Given the description of an element on the screen output the (x, y) to click on. 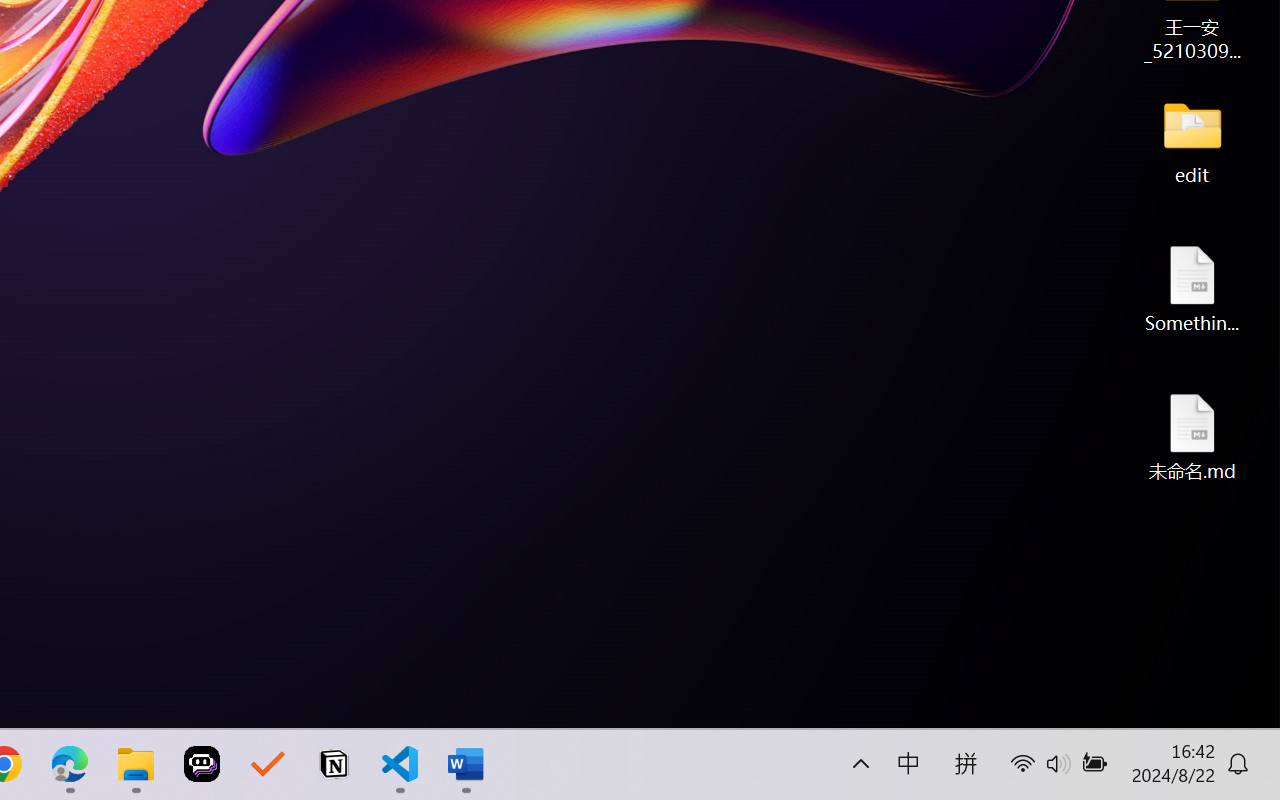
edit (1192, 140)
Something.md (1192, 288)
